Given the description of an element on the screen output the (x, y) to click on. 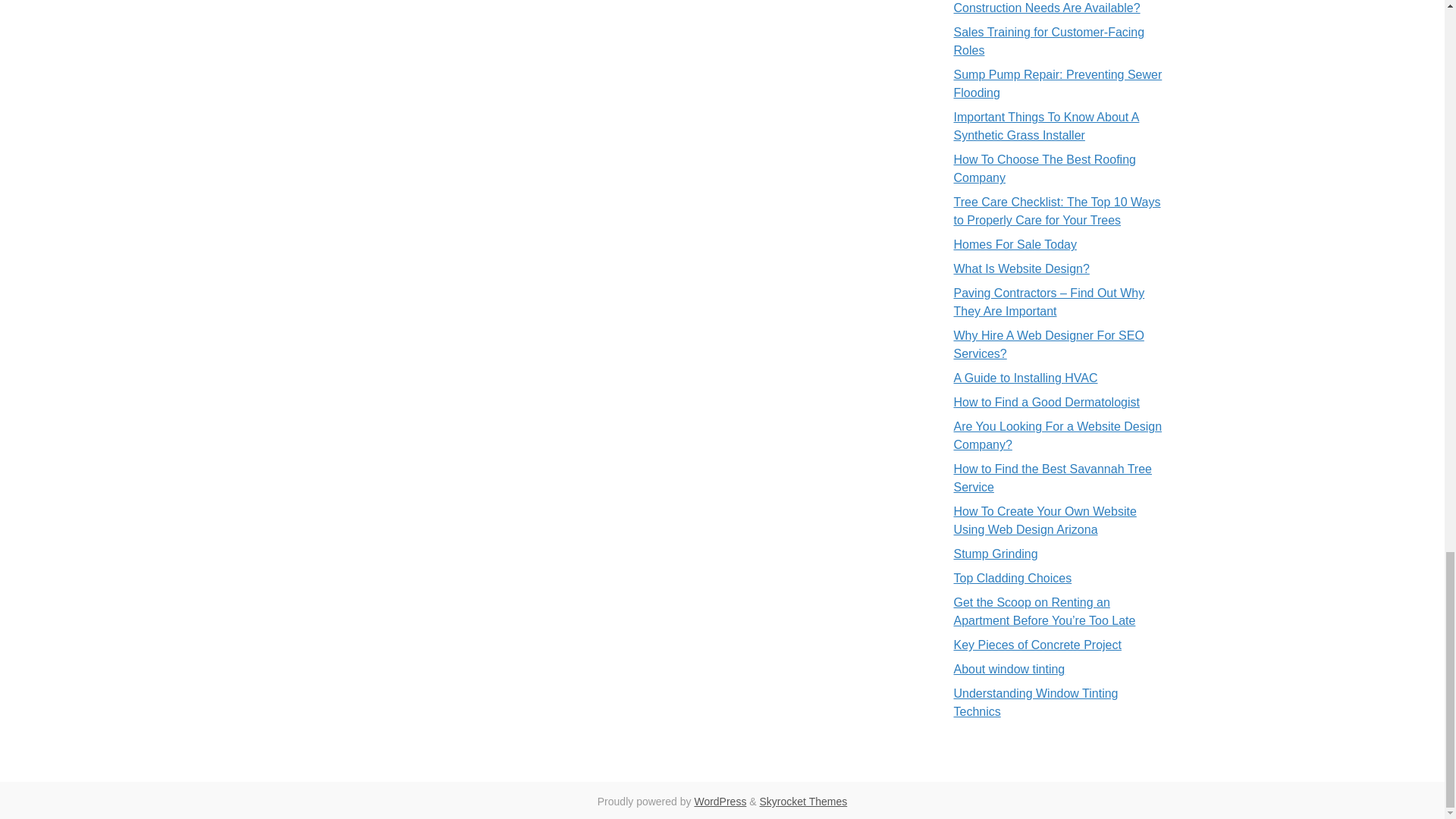
Skyrocket Themes (803, 801)
Semantic Personal Publishing Platform (719, 801)
